Given the description of an element on the screen output the (x, y) to click on. 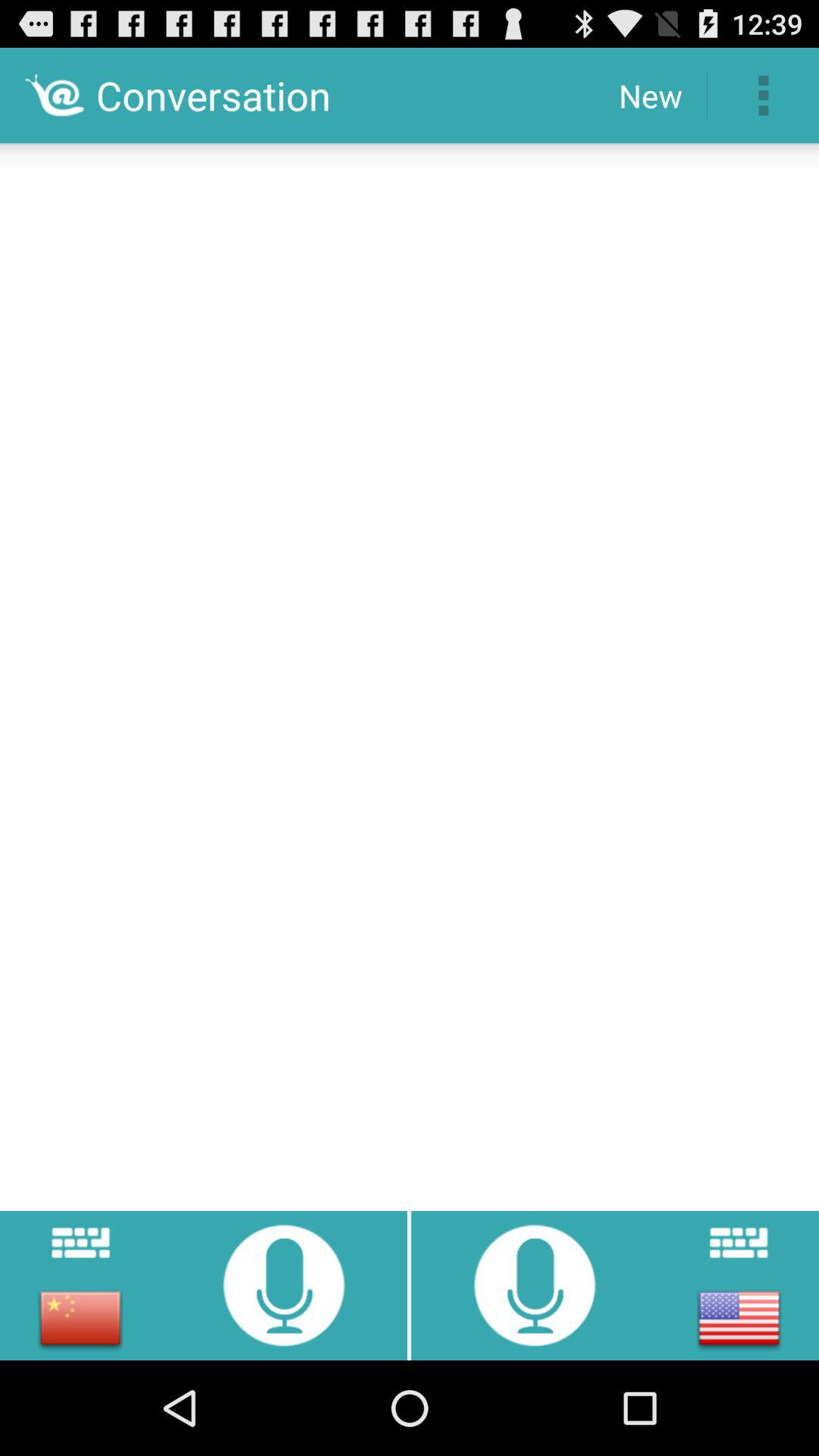
chinese language (80, 1317)
